Given the description of an element on the screen output the (x, y) to click on. 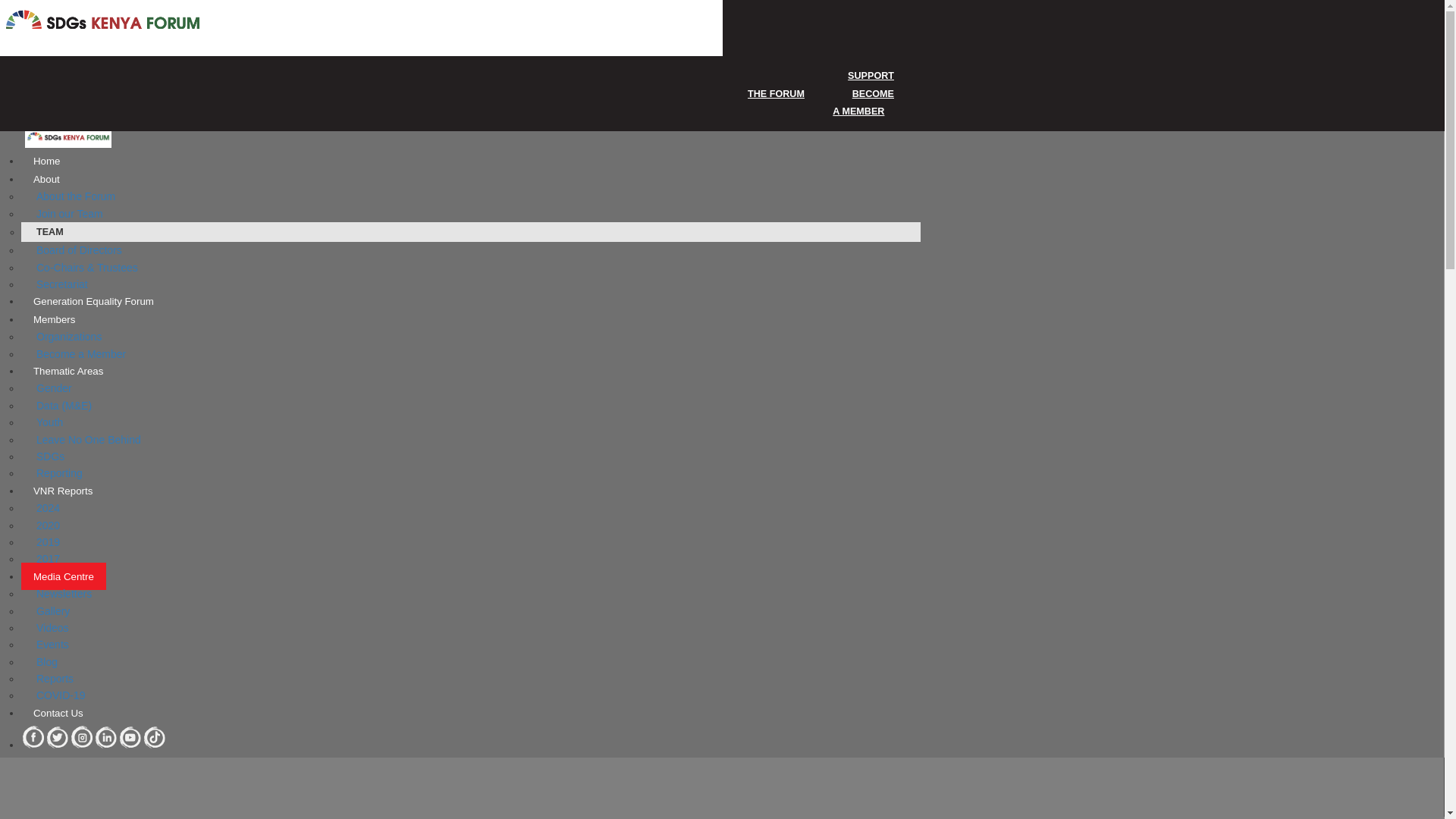
Board of Directors (78, 250)
2017 (48, 558)
Become a Member (81, 353)
Reports (54, 678)
Youth (49, 422)
Thematic Areas (68, 370)
About the Forum (76, 196)
Generation Equality Forum (93, 300)
Reporting (59, 473)
Home (46, 160)
